Given the description of an element on the screen output the (x, y) to click on. 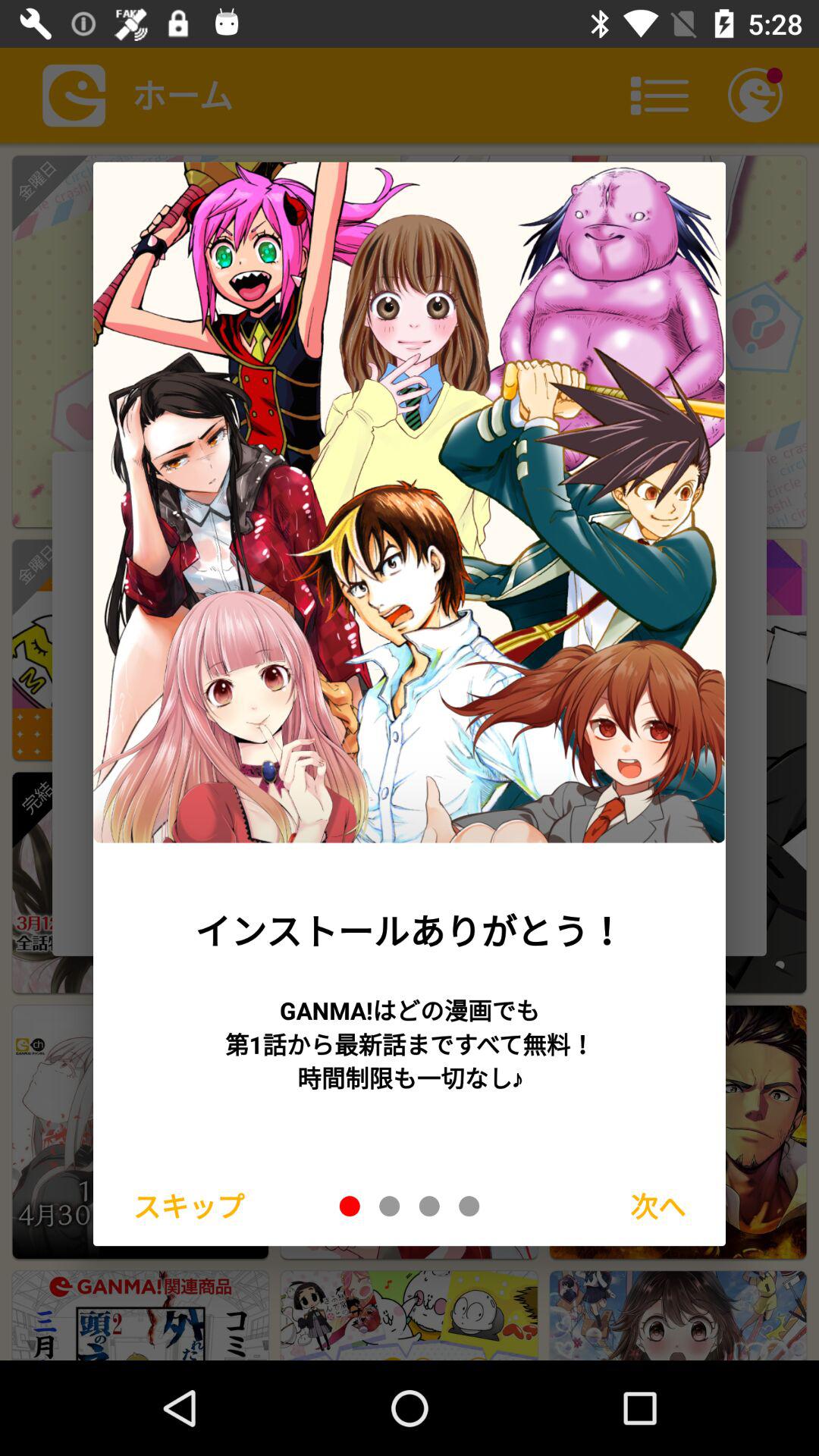
adding button (349, 1206)
